Given the description of an element on the screen output the (x, y) to click on. 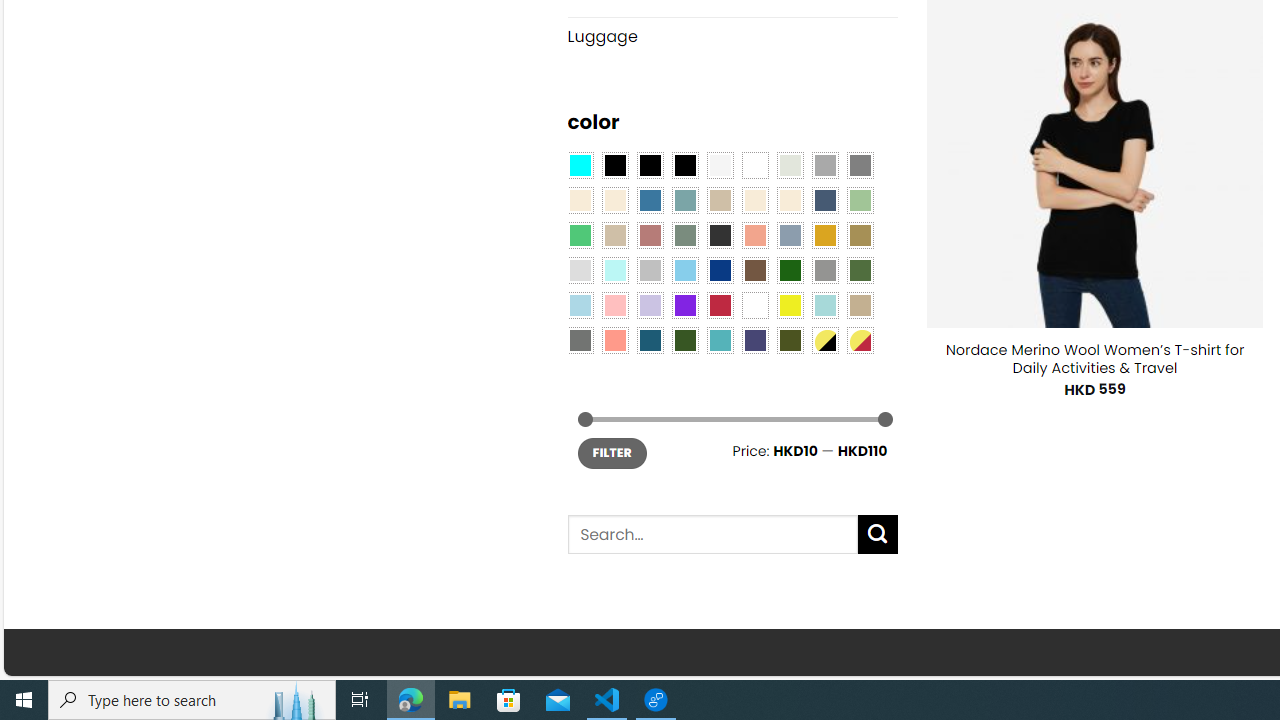
Luggage (732, 37)
Capri Blue (650, 339)
Dusty Blue (789, 234)
Light Blue (579, 305)
Purple (684, 305)
Dull Nickle (579, 339)
Beige-Brown (614, 200)
Light Taupe (614, 234)
Blue (650, 200)
Sage (684, 234)
Caramel (755, 200)
Kelp (859, 234)
Black (650, 164)
Submit (877, 533)
Gray (824, 269)
